Given the description of an element on the screen output the (x, y) to click on. 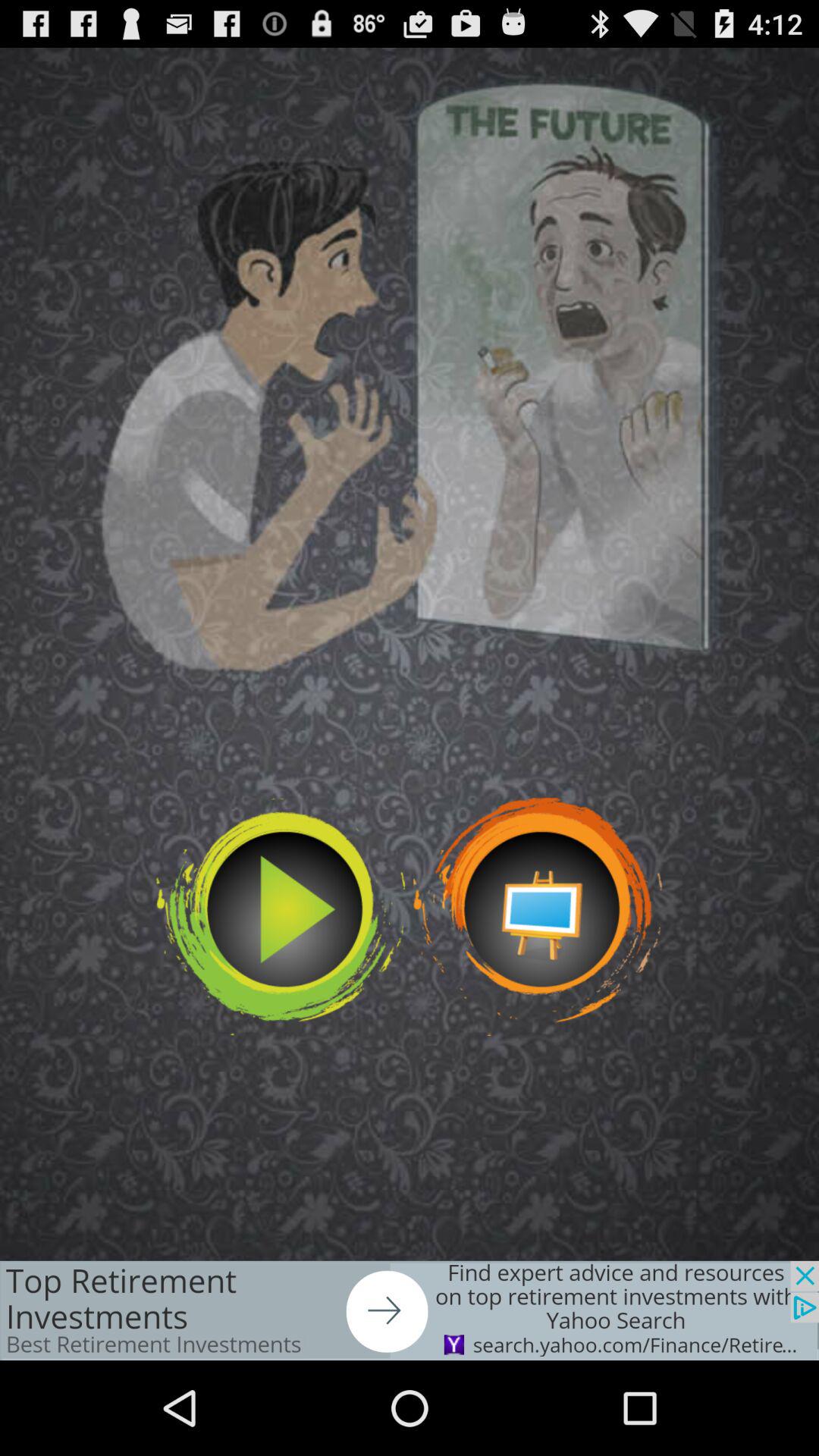
adiveristment (409, 1310)
